Given the description of an element on the screen output the (x, y) to click on. 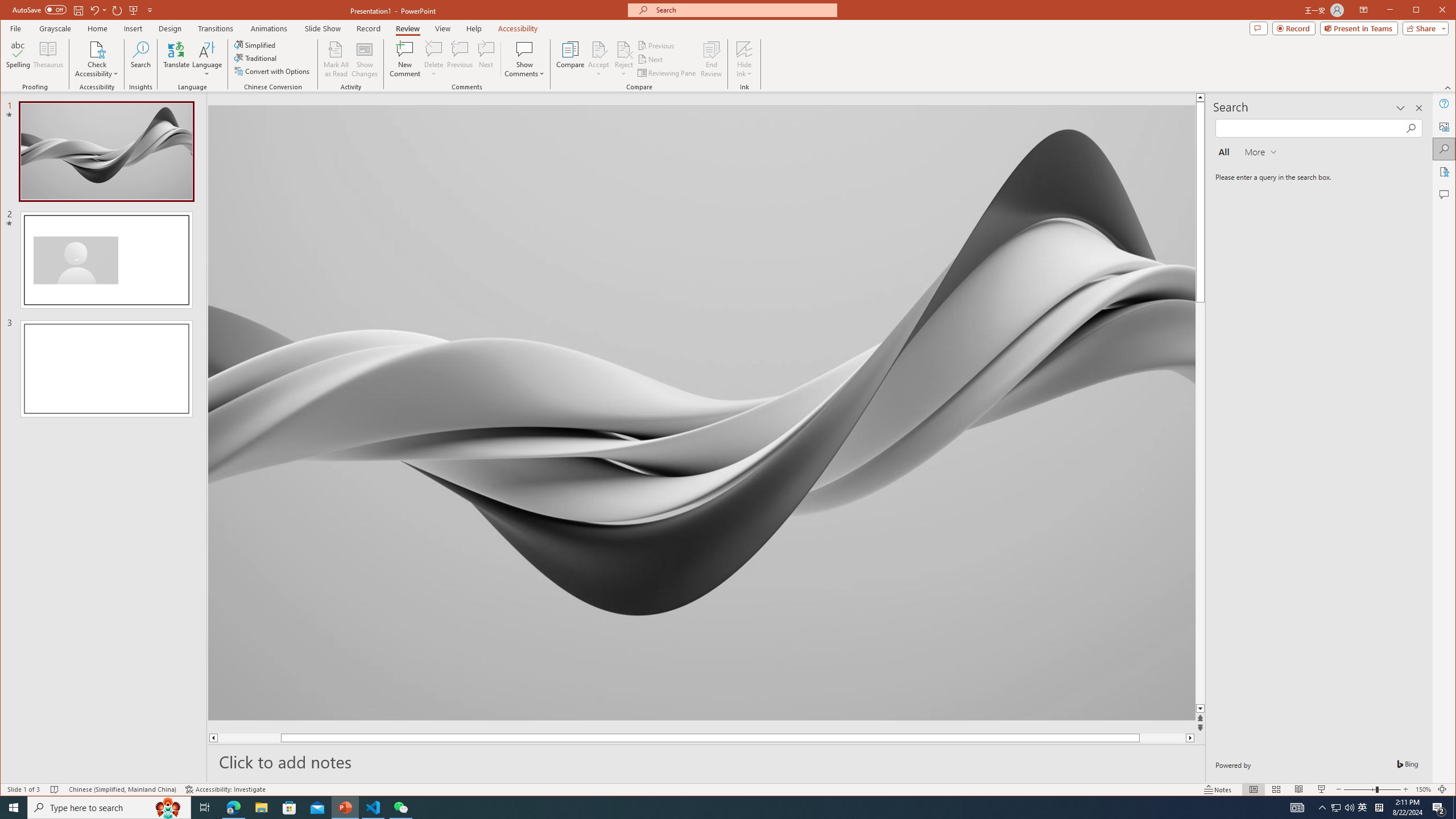
Reject (623, 59)
Show Changes (365, 59)
Previous (657, 45)
Reviewing Pane (667, 72)
Traditional (256, 57)
